Given the description of an element on the screen output the (x, y) to click on. 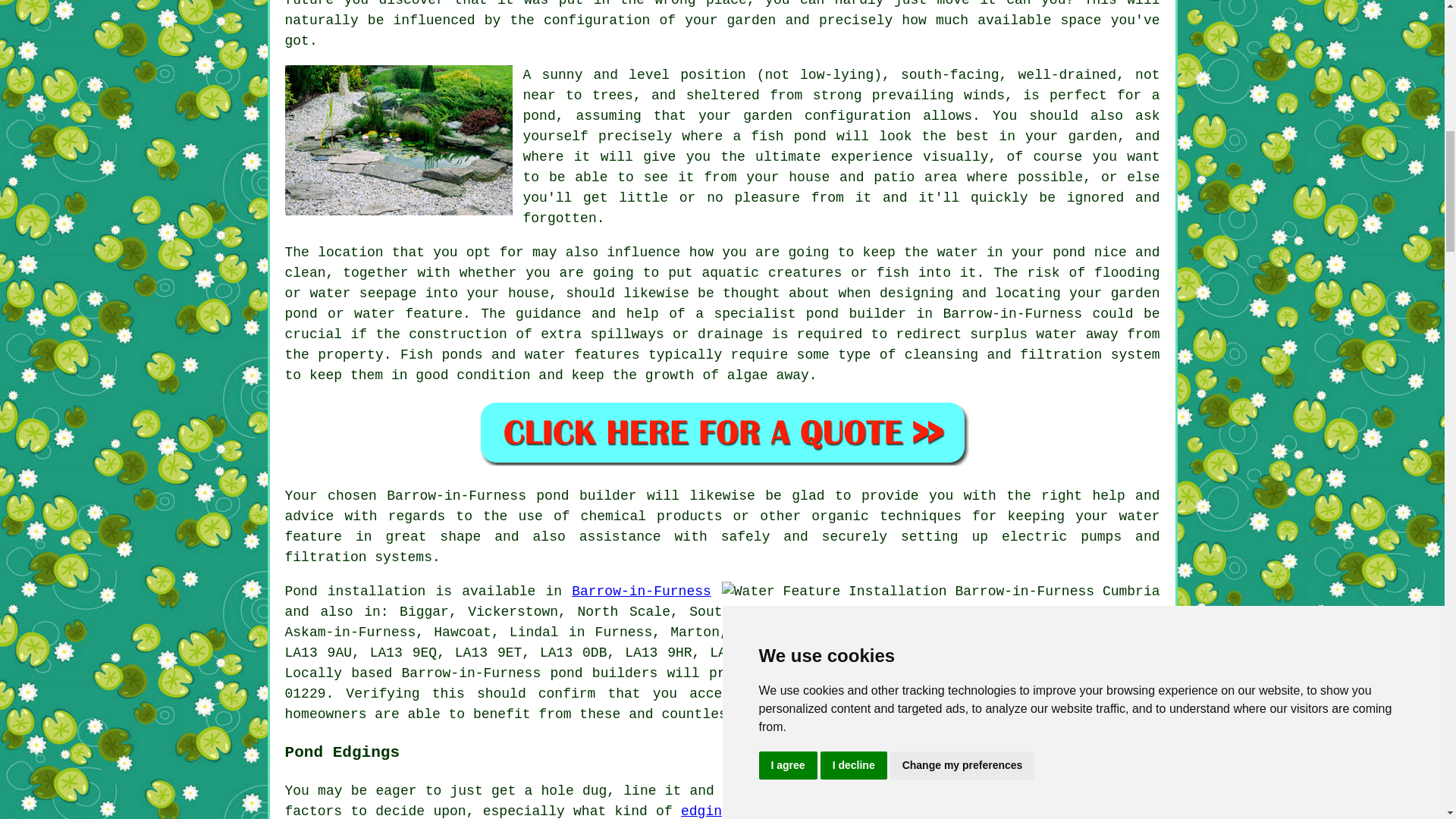
Water Features Barrow-in-Furness (941, 591)
Pond (301, 590)
pond installers (936, 693)
Pond Installer Quotes in Barrow-in-Furness Cumbria (722, 432)
pond builders (604, 672)
